Given the description of an element on the screen output the (x, y) to click on. 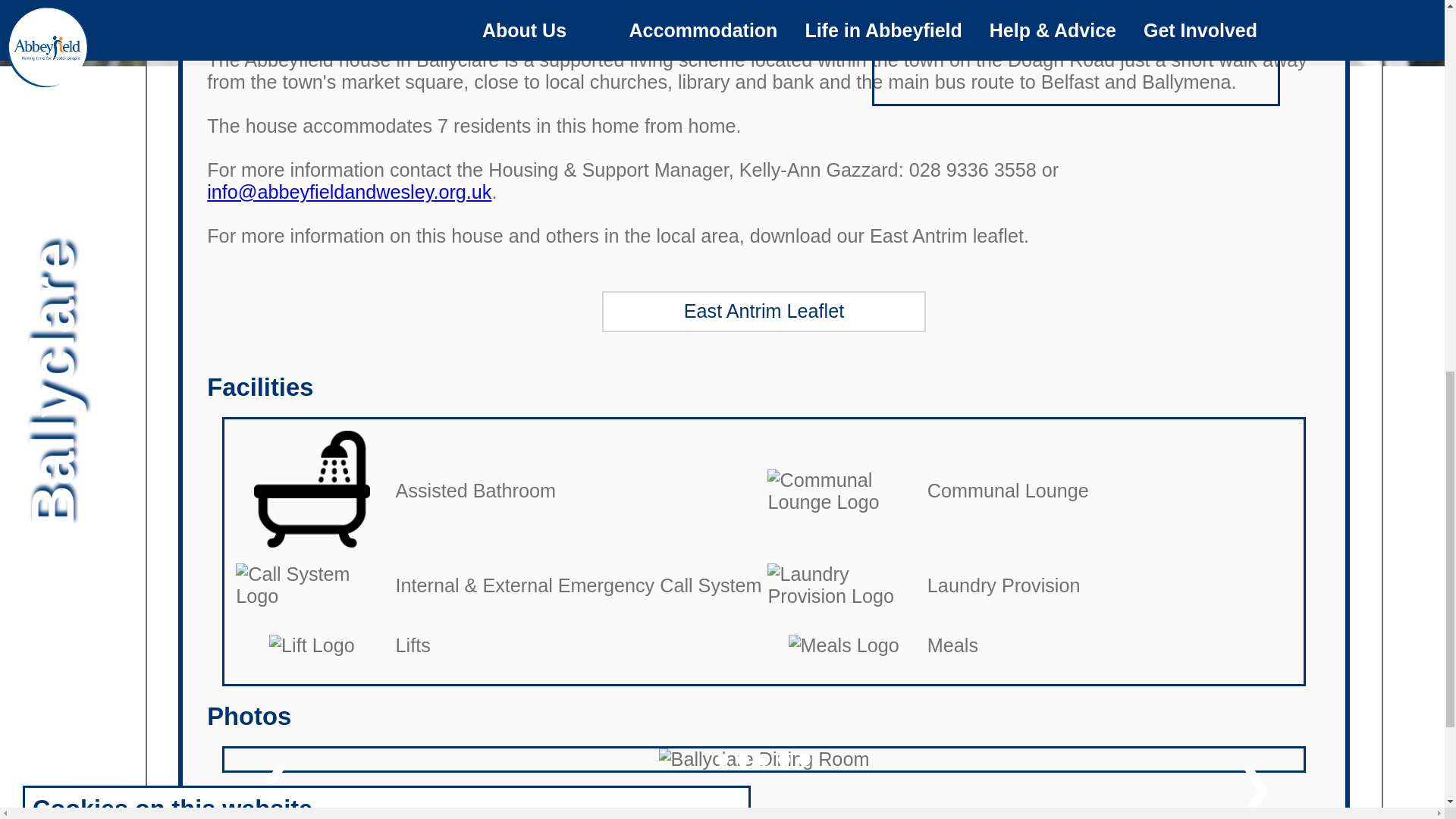
East Antrim Leaflet (764, 311)
